Given the description of an element on the screen output the (x, y) to click on. 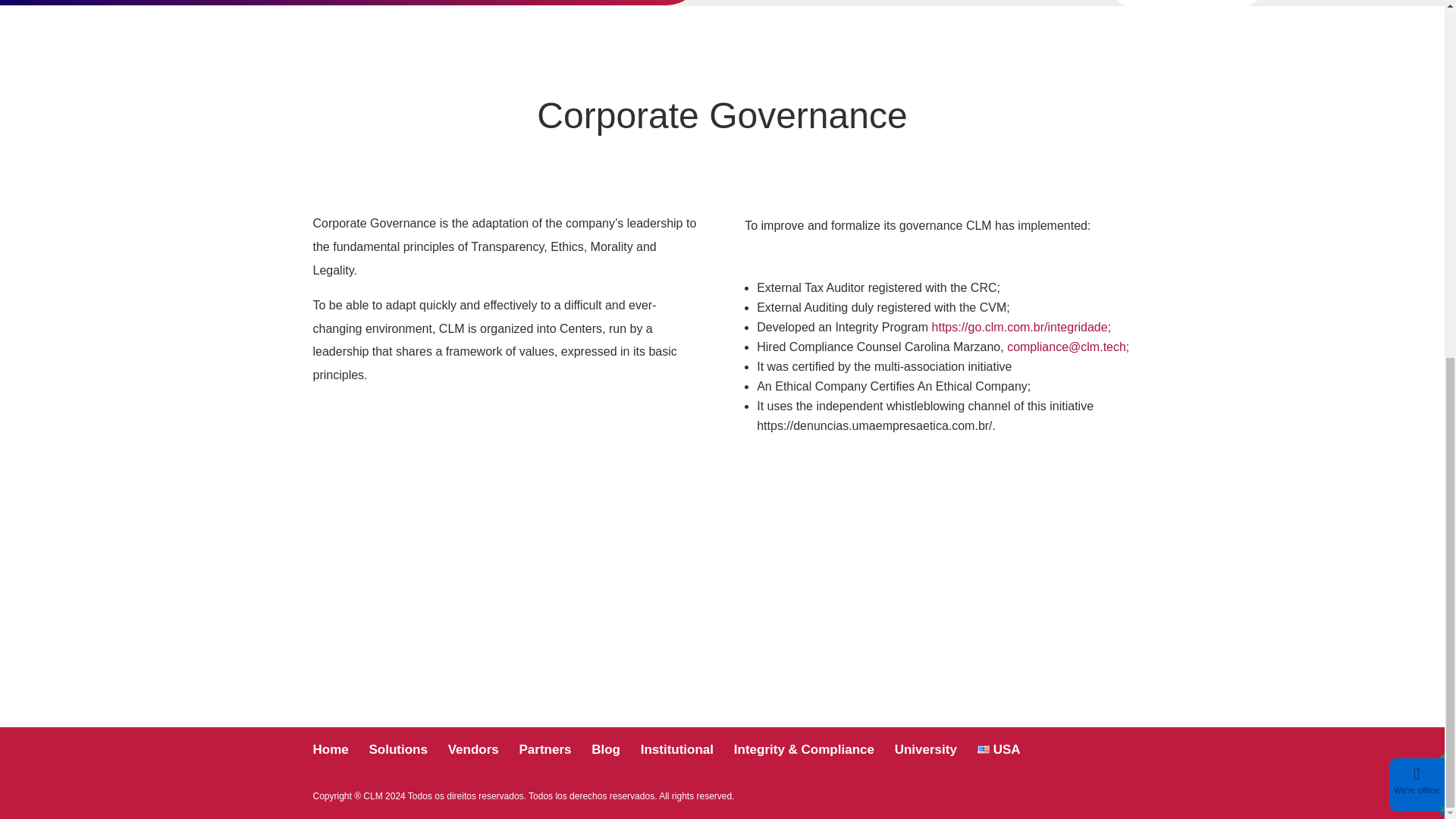
We're offline (1417, 158)
